Given the description of an element on the screen output the (x, y) to click on. 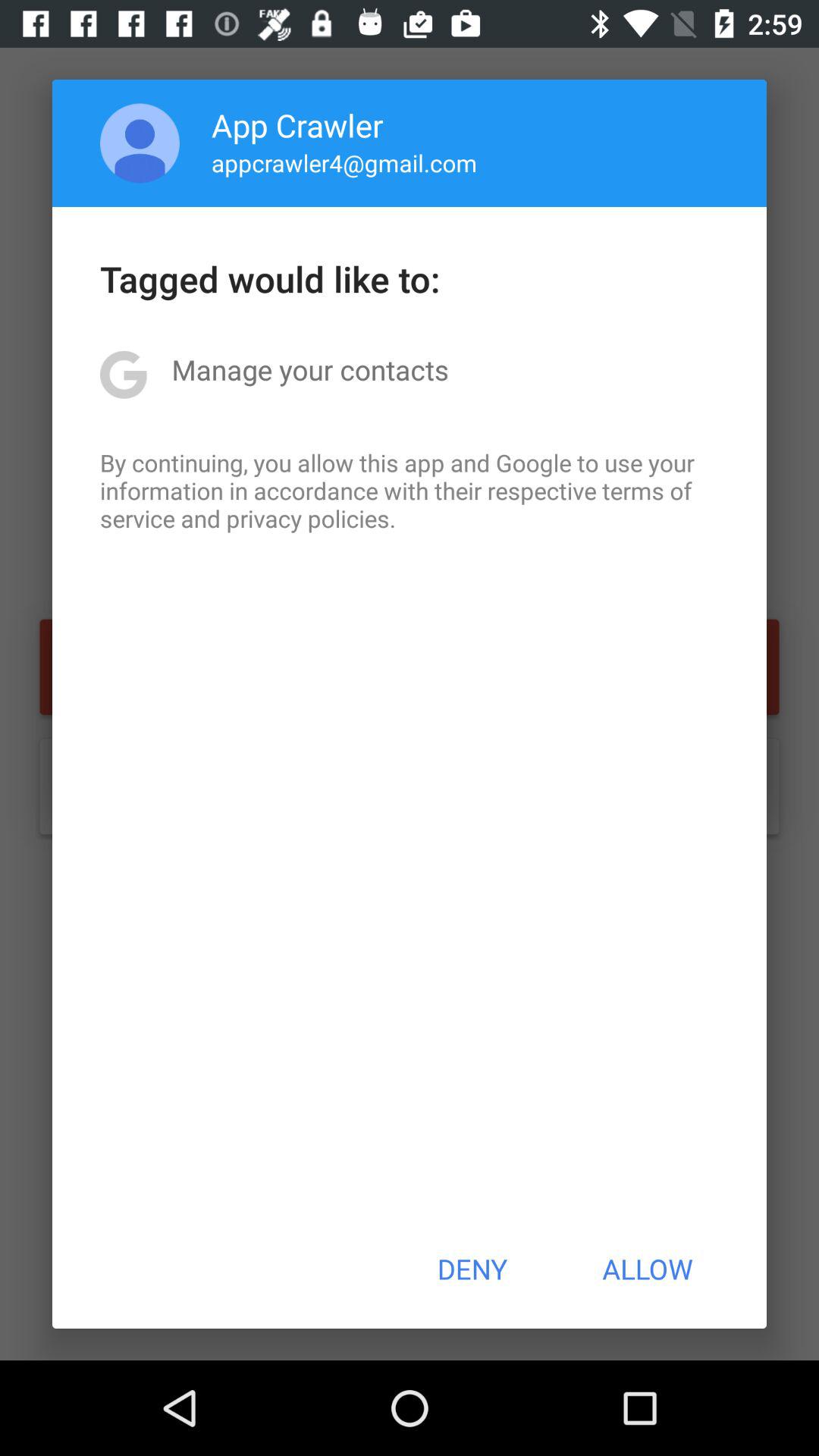
choose the deny at the bottom (471, 1268)
